Given the description of an element on the screen output the (x, y) to click on. 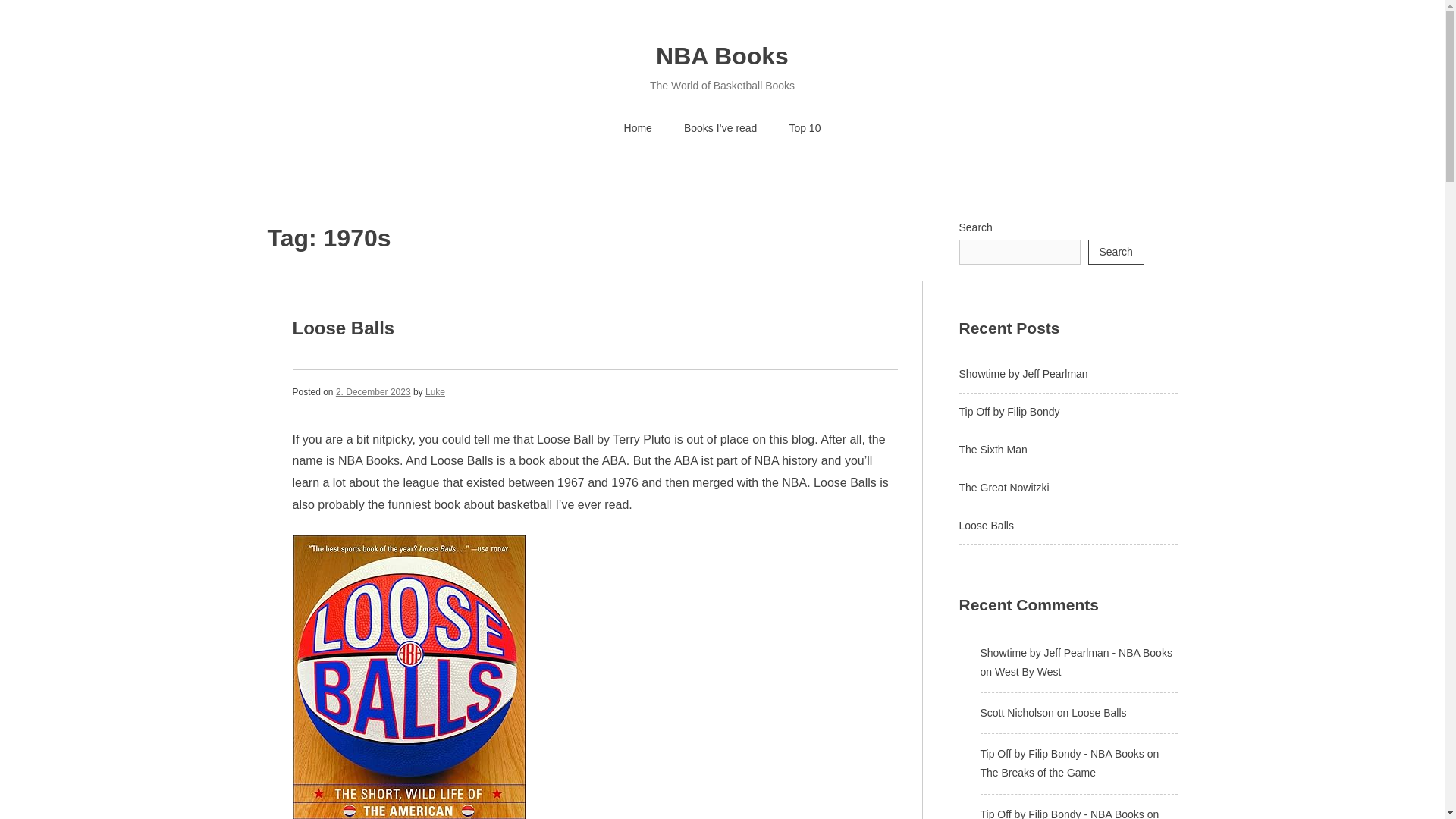
Loose Balls (343, 327)
Home (638, 128)
Top 10 (804, 128)
2. December 2023 (373, 391)
NBA Books (722, 55)
Luke (435, 391)
